Given the description of an element on the screen output the (x, y) to click on. 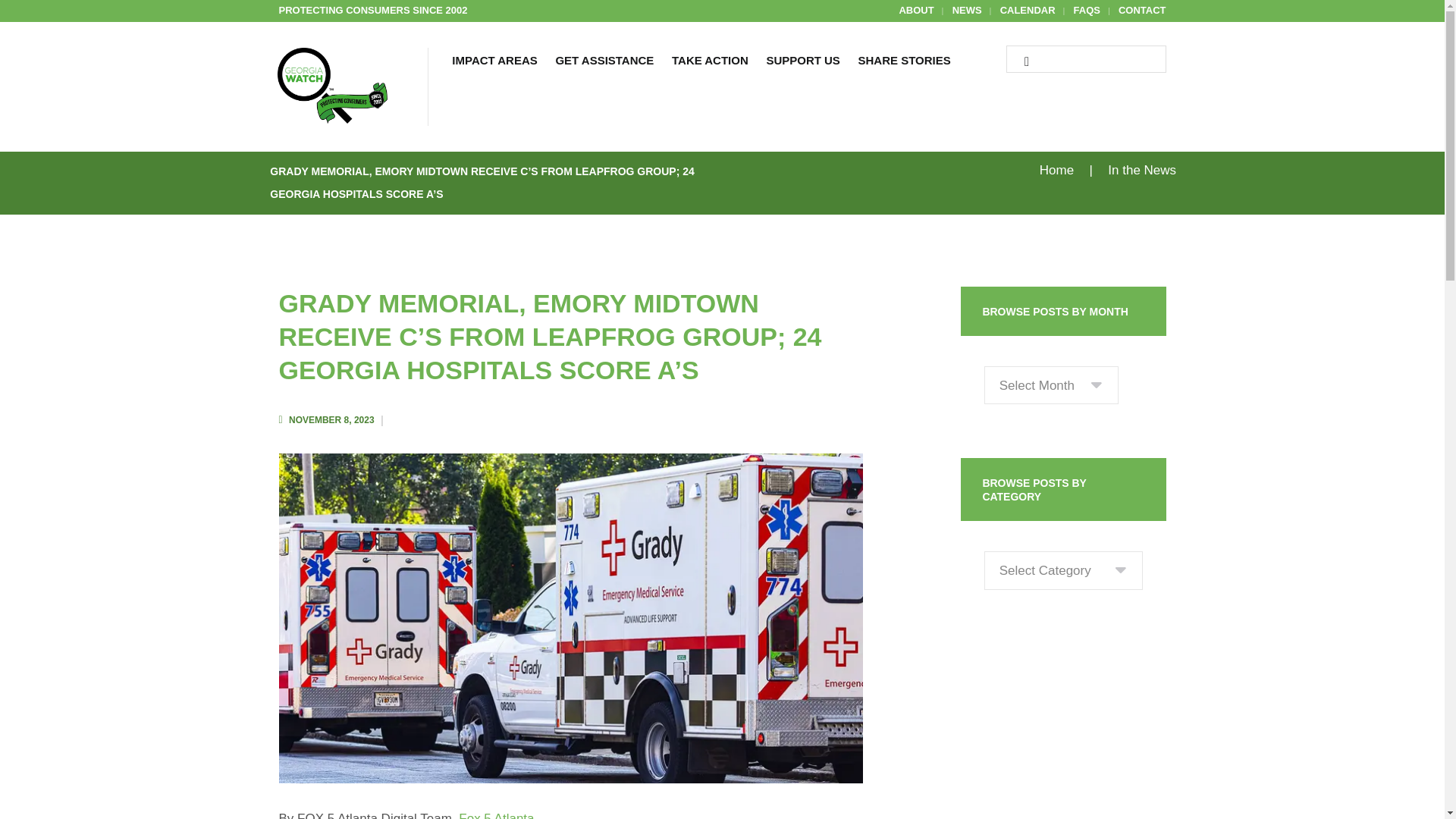
FAQS (1087, 11)
TAKE ACTION (709, 62)
SUPPORT US (802, 62)
GET ASSISTANCE (605, 62)
CONTACT (1142, 11)
IMPACT AREAS (495, 62)
SHARE STORIES (903, 62)
ABOUT (915, 11)
Start search (1020, 62)
CALENDAR (1027, 11)
NEWS (966, 11)
